Given the description of an element on the screen output the (x, y) to click on. 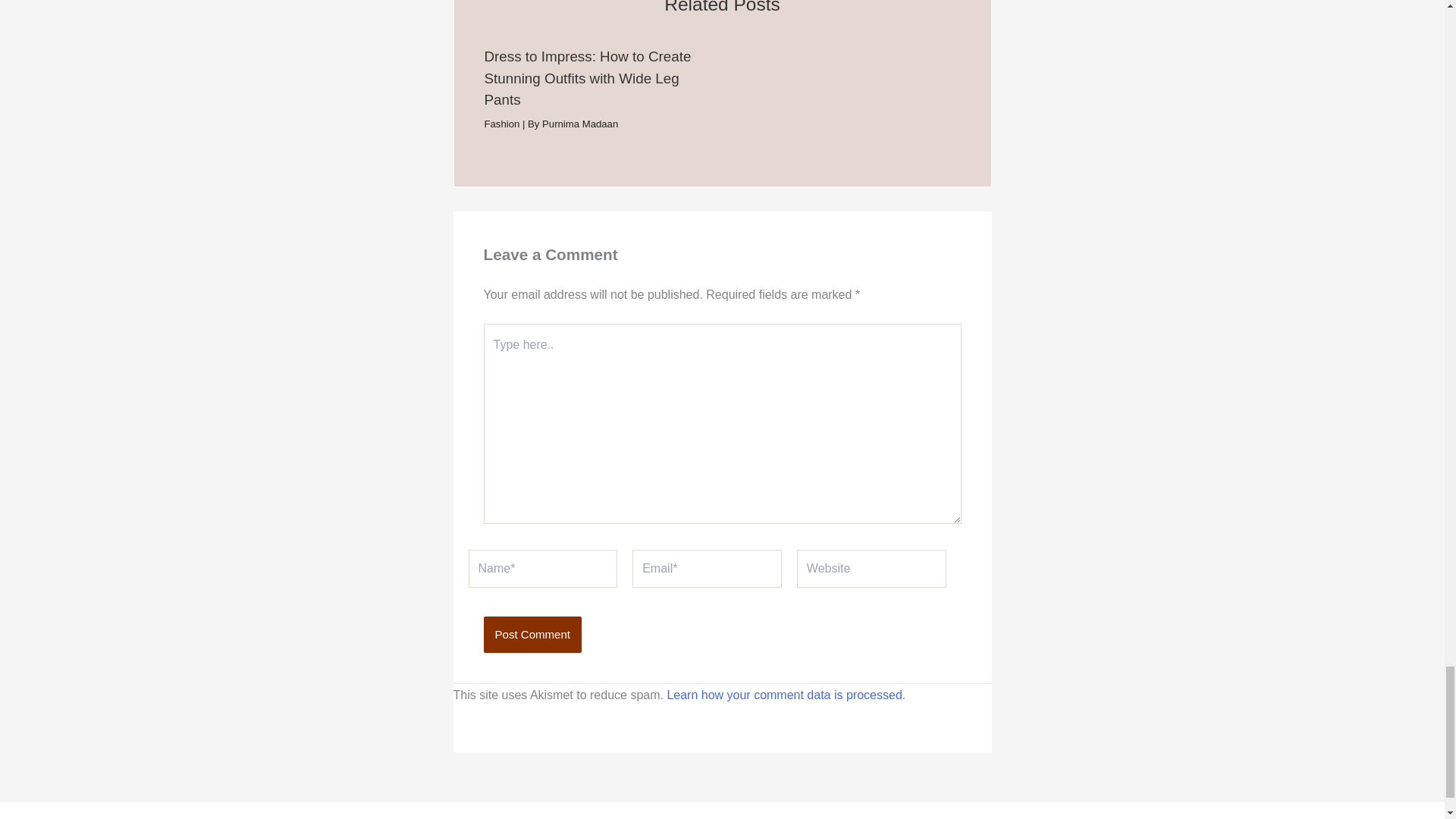
Post Comment (532, 634)
View all posts by Purnima Madaan (579, 123)
